Given the description of an element on the screen output the (x, y) to click on. 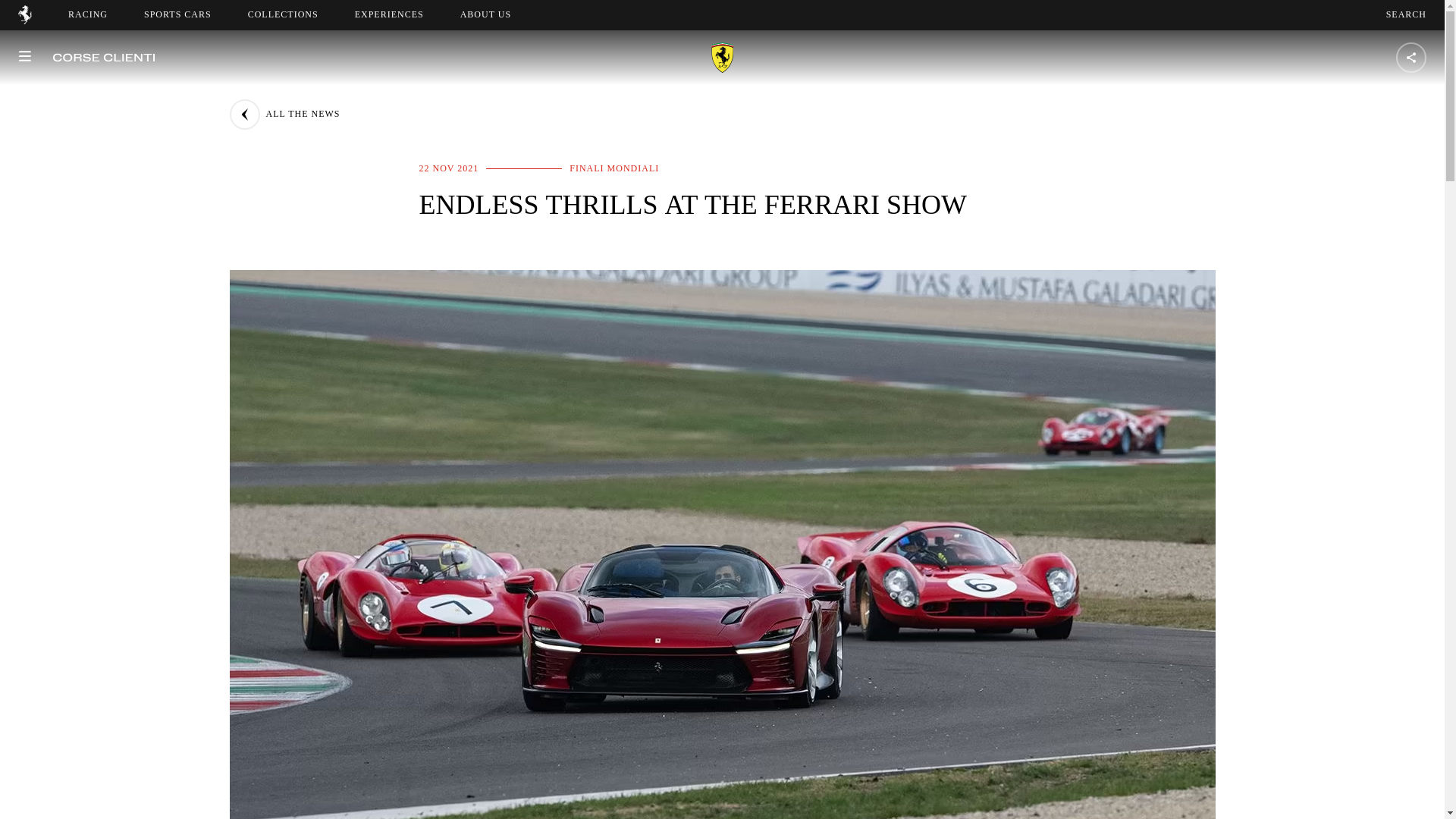
EXPERIENCES (389, 14)
SEARCH (499, 14)
ALL THE NEWS (1406, 14)
Endless thrills at the Ferrari Show (283, 114)
RACING (177, 14)
Ferrari logo (87, 14)
ABOUT US (24, 19)
COLLECTIONS (485, 14)
